Given the description of an element on the screen output the (x, y) to click on. 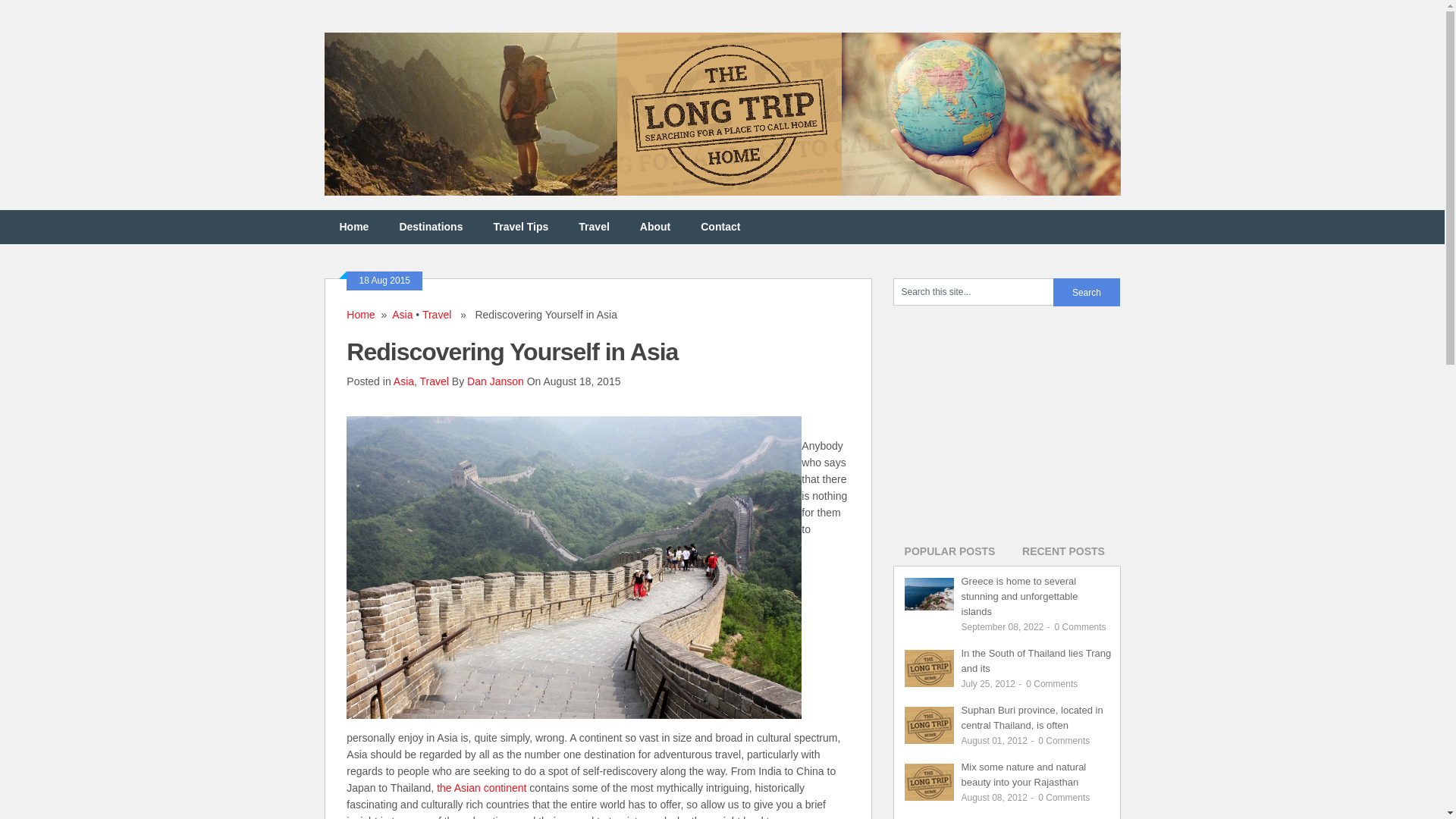
Posts by Dan Janson (495, 381)
In the South of Thailand lies Trang and its (1036, 660)
RECENT POSTS (1064, 551)
Travel (434, 381)
Asia (401, 314)
Home (360, 314)
Surprising Suphan Buri (1031, 717)
Home (354, 226)
Asia (403, 381)
Dan Janson (495, 381)
Search (1085, 292)
Destinations (430, 226)
the Asian continent (480, 787)
